Given the description of an element on the screen output the (x, y) to click on. 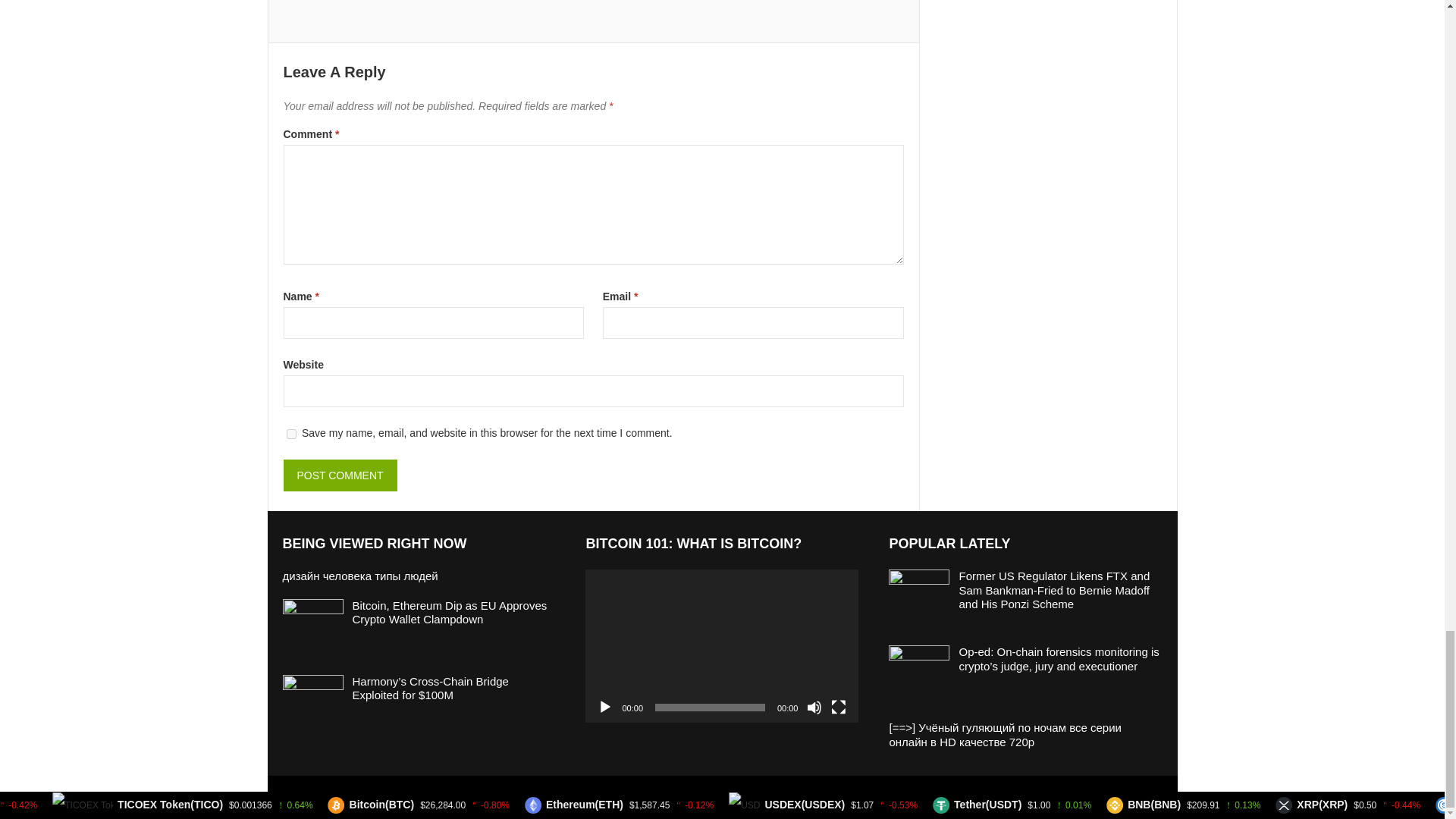
Post Comment (340, 475)
Mute (814, 707)
yes (291, 433)
Fullscreen (838, 707)
Play (604, 707)
